Given the description of an element on the screen output the (x, y) to click on. 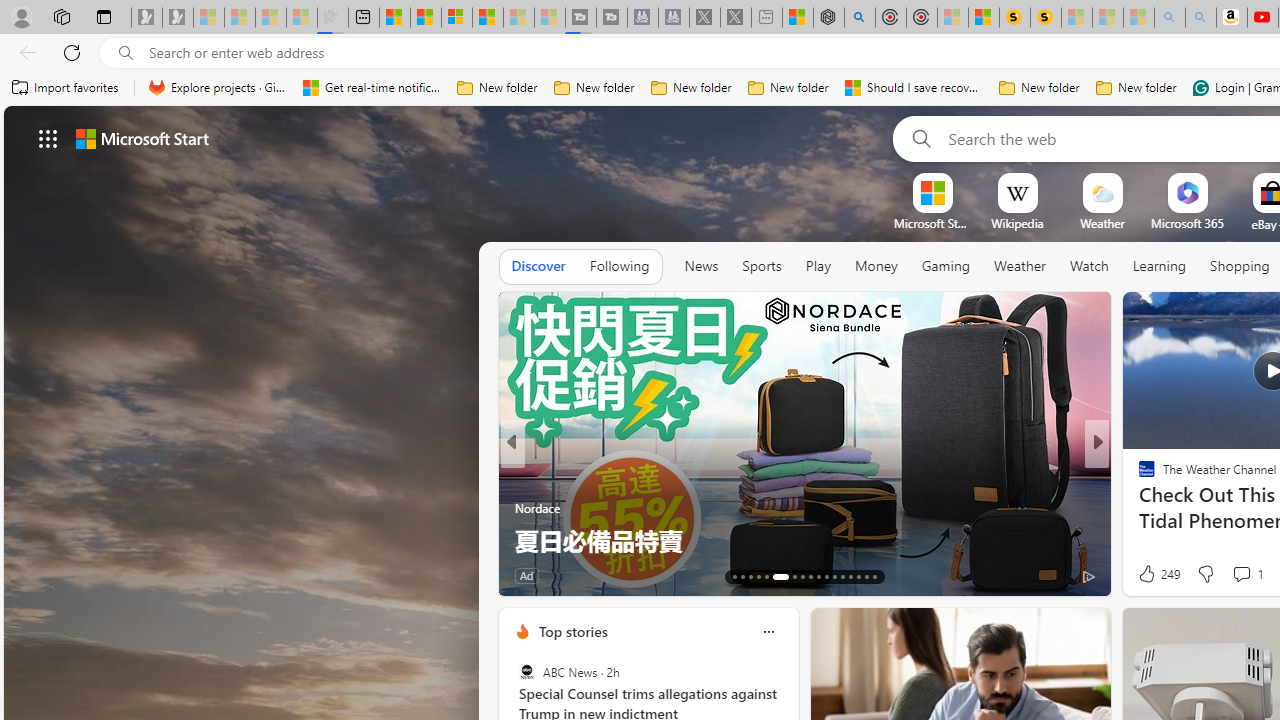
606 Like (1151, 574)
Overview (456, 17)
View comments 1 Comment (1247, 574)
60 Like (532, 574)
The Verge (1138, 507)
Money (876, 267)
249 Like (1157, 574)
View comments 3 Comment (1241, 574)
CBS News (1138, 475)
AutomationID: tab-21 (810, 576)
Following (619, 265)
Weather (1020, 265)
Forge of Empires (1175, 507)
